Given the description of an element on the screen output the (x, y) to click on. 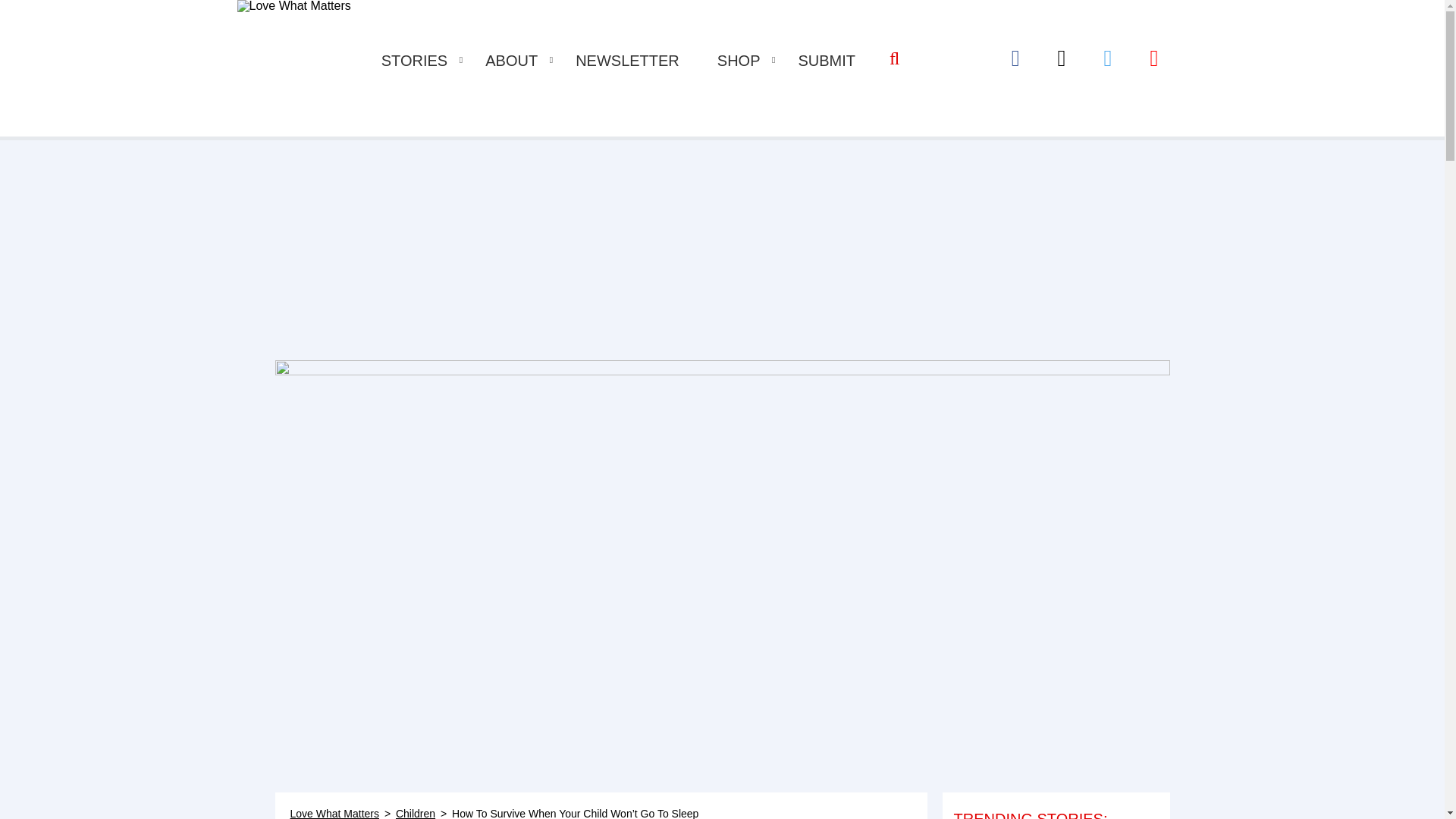
SUBMIT (826, 60)
ABOUT (511, 60)
SHOP (738, 60)
STORIES (414, 60)
NEWSLETTER (627, 60)
